Given the description of an element on the screen output the (x, y) to click on. 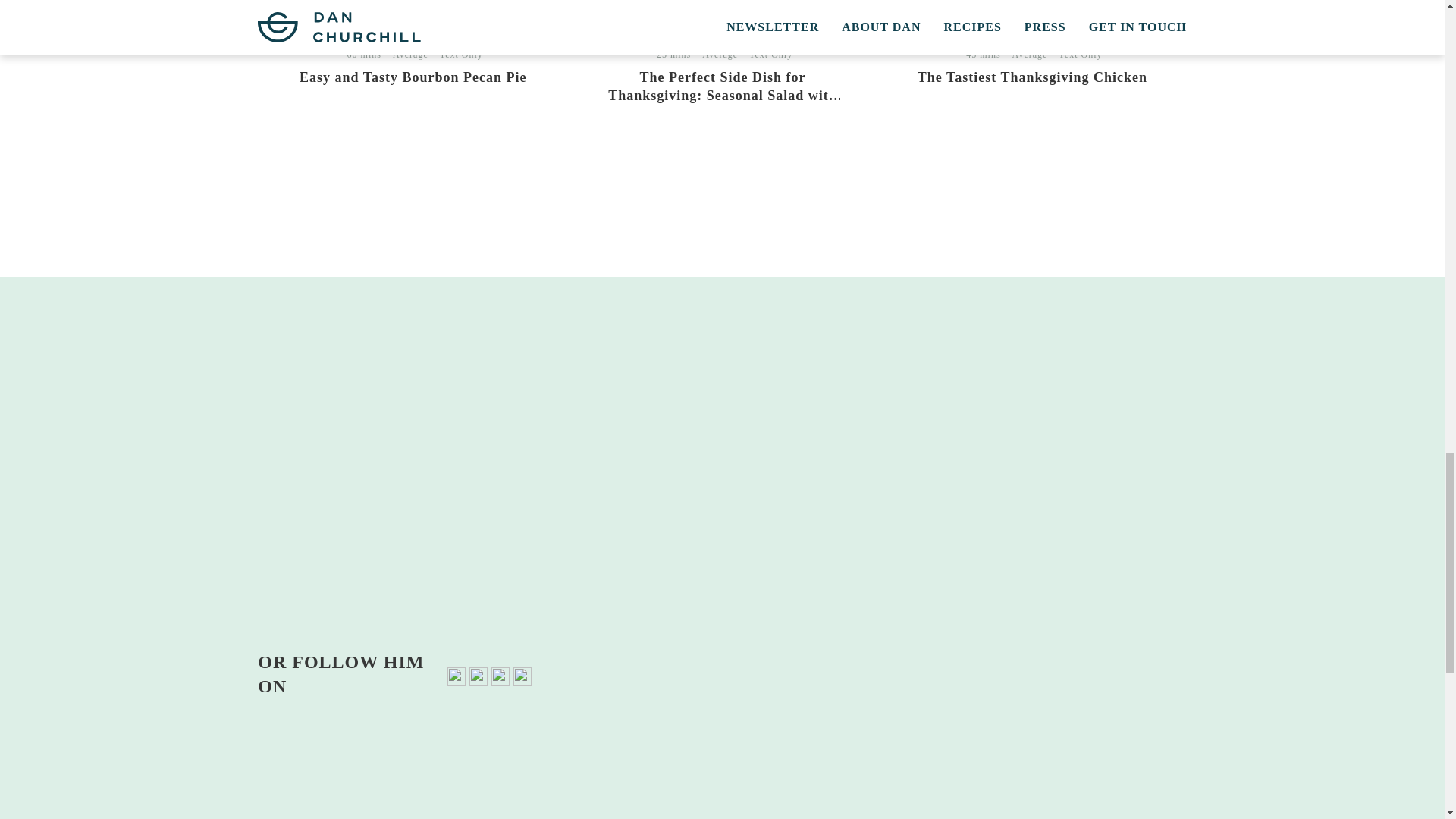
The Tastiest Thanksgiving Chicken (1032, 76)
Easy and Tasty Bourbon Pecan Pie (413, 76)
